Given the description of an element on the screen output the (x, y) to click on. 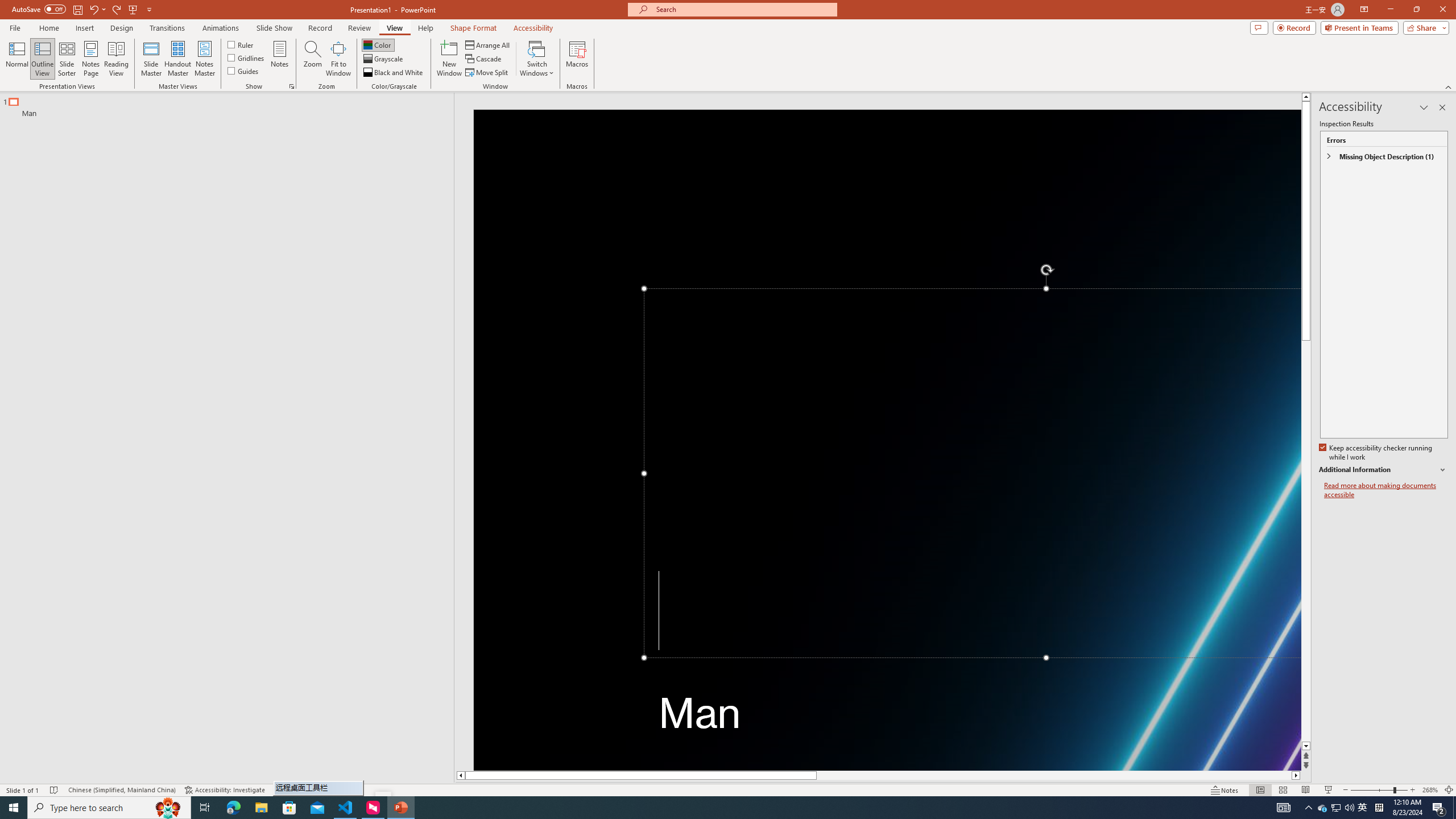
Grid Settings... (291, 85)
Color (377, 44)
Arrange All (488, 44)
Switch Windows (537, 58)
